Given the description of an element on the screen output the (x, y) to click on. 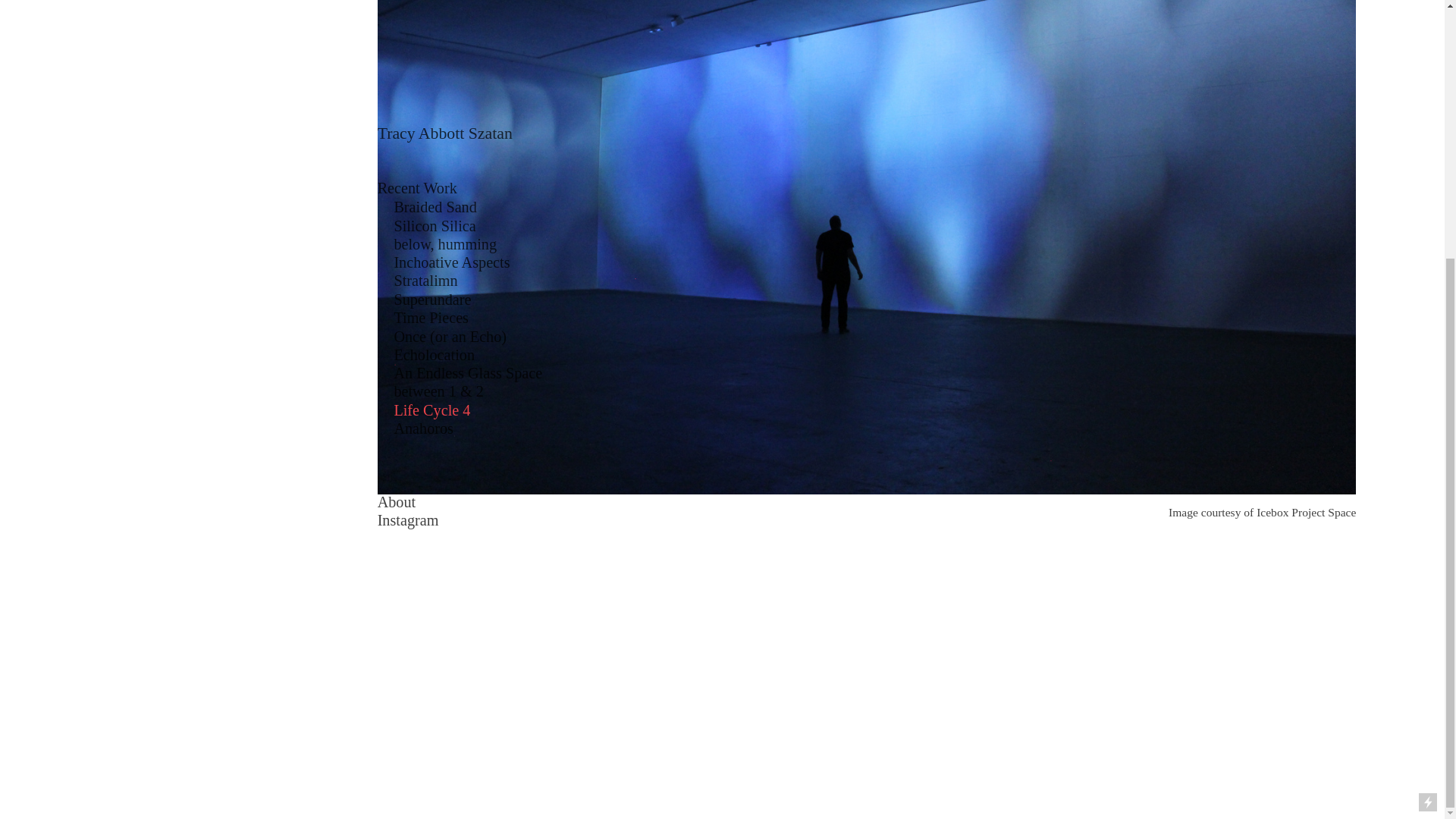
About (396, 133)
Instagram (408, 151)
Life Cycle 4 (431, 41)
Anahoros (422, 59)
An Endless Glass Space (467, 6)
